Given the description of an element on the screen output the (x, y) to click on. 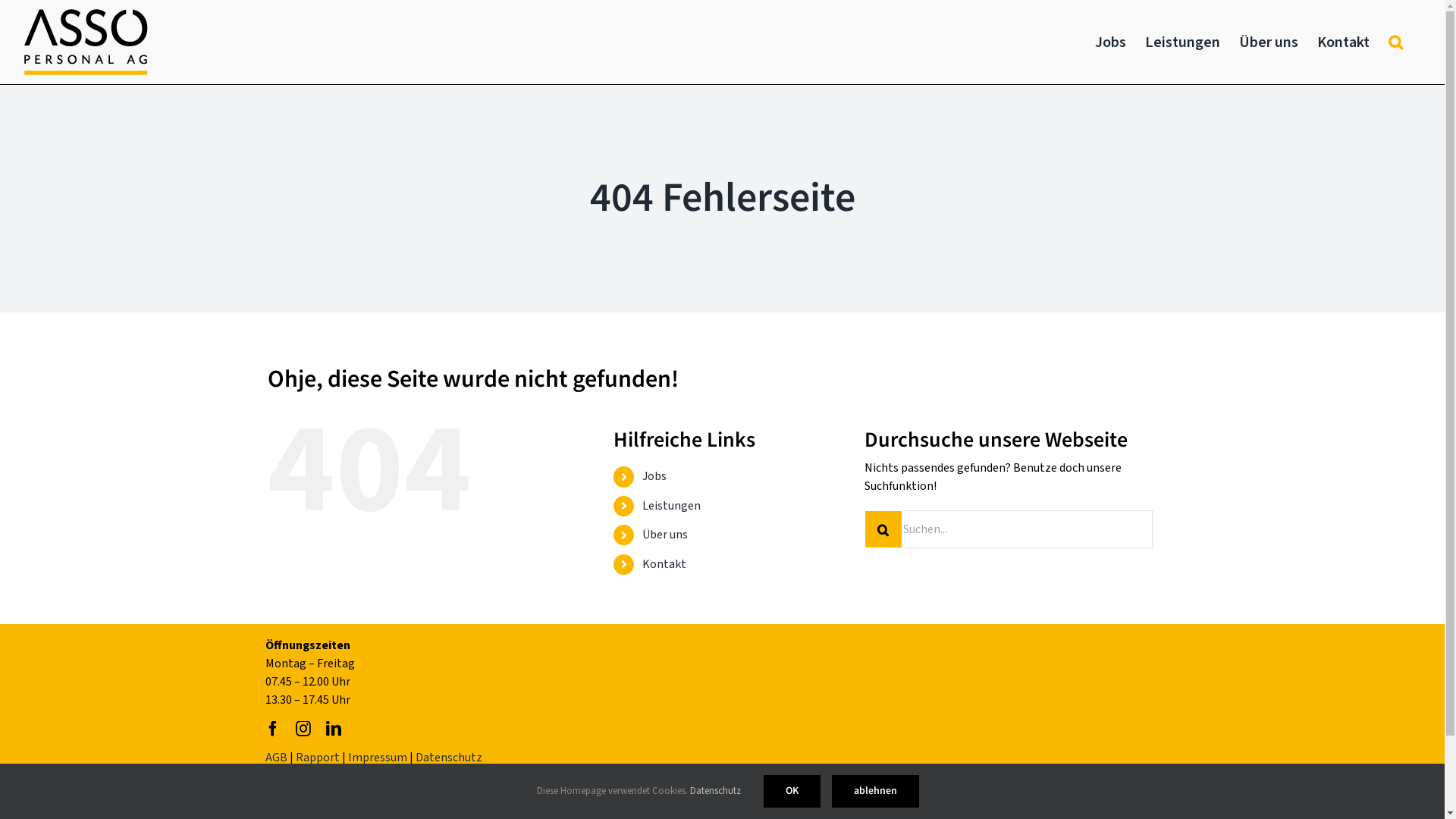
Jobs Element type: text (654, 475)
Suche Element type: hover (1395, 42)
Kontakt Element type: text (664, 563)
Rapport Element type: text (317, 757)
Jobs Element type: text (1110, 42)
OK Element type: text (791, 791)
Leistungen Element type: text (671, 505)
AGB Element type: text (276, 757)
ablehnen Element type: text (875, 791)
Datenschutz Element type: text (715, 790)
Leistungen Element type: text (1182, 42)
Kontakt Element type: text (1343, 42)
Datenschutz Element type: text (448, 757)
Impressum Element type: text (377, 757)
